Given the description of an element on the screen output the (x, y) to click on. 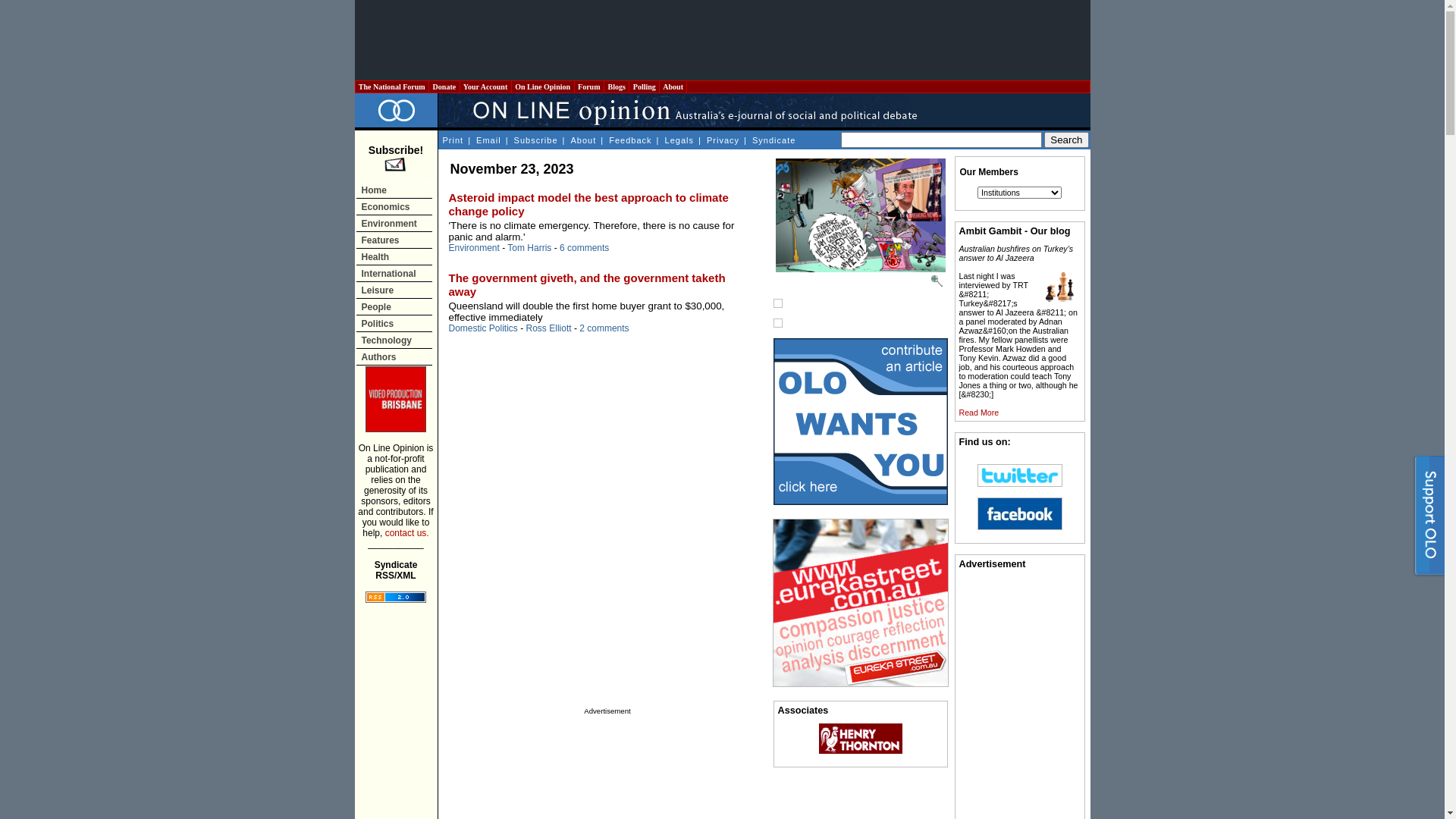
Syndicate Element type: text (773, 139)
Environment Element type: text (394, 223)
Read More Element type: text (978, 412)
Print Element type: text (451, 139)
2 comments Element type: text (603, 328)
 Donate  Element type: text (444, 86)
Feedback Element type: text (629, 139)
Tom Harris Element type: text (529, 247)
Ross Elliott Element type: text (548, 328)
Privacy Element type: text (722, 139)
International Element type: text (394, 273)
6 comments Element type: text (583, 247)
People Element type: text (394, 306)
Legals Element type: text (678, 139)
Advertisement Element type: hover (721, 40)
Search Element type: text (1066, 139)
Politics Element type: text (394, 323)
contact us. Element type: text (407, 532)
Leisure Element type: text (394, 290)
 About  Element type: text (672, 86)
Features Element type: text (394, 239)
Email Element type: text (487, 139)
The government giveth, and the government taketh away Element type: text (586, 284)
Environment Element type: text (473, 247)
Domestic Politics Element type: text (482, 328)
Authors Element type: text (394, 356)
Support Us! Element type: text (1427, 519)
 Your Account  Element type: text (485, 86)
Economics Element type: text (394, 206)
Home Element type: text (394, 189)
About Element type: text (583, 139)
 On Line Opinion  Element type: text (542, 86)
 Forum  Element type: text (589, 86)
 Polling  Element type: text (643, 86)
 The National Forum  Element type: text (391, 86)
Subscribe! Element type: text (395, 158)
Subscribe Element type: text (535, 139)
Technology Element type: text (394, 340)
Health Element type: text (394, 256)
 Blogs  Element type: text (616, 86)
